Given the description of an element on the screen output the (x, y) to click on. 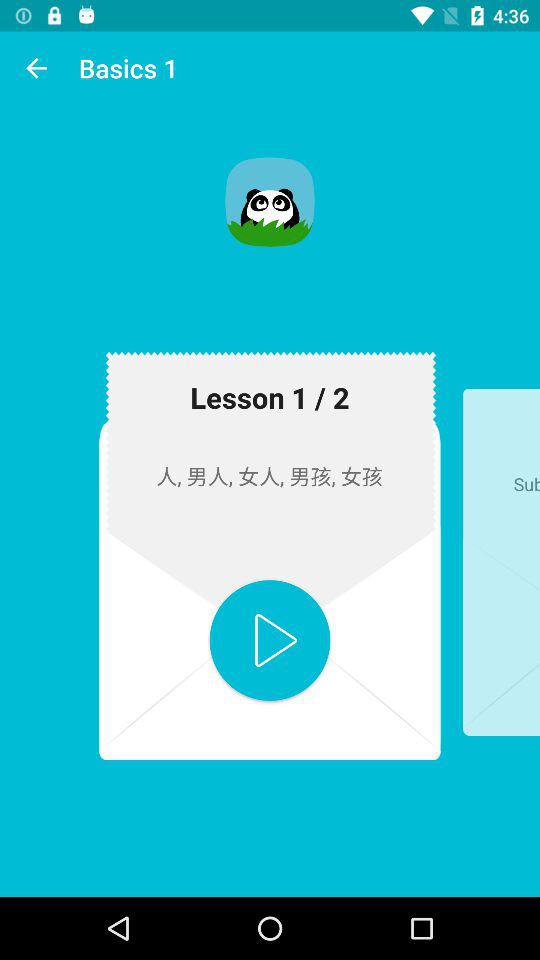
basics pages (269, 640)
